Given the description of an element on the screen output the (x, y) to click on. 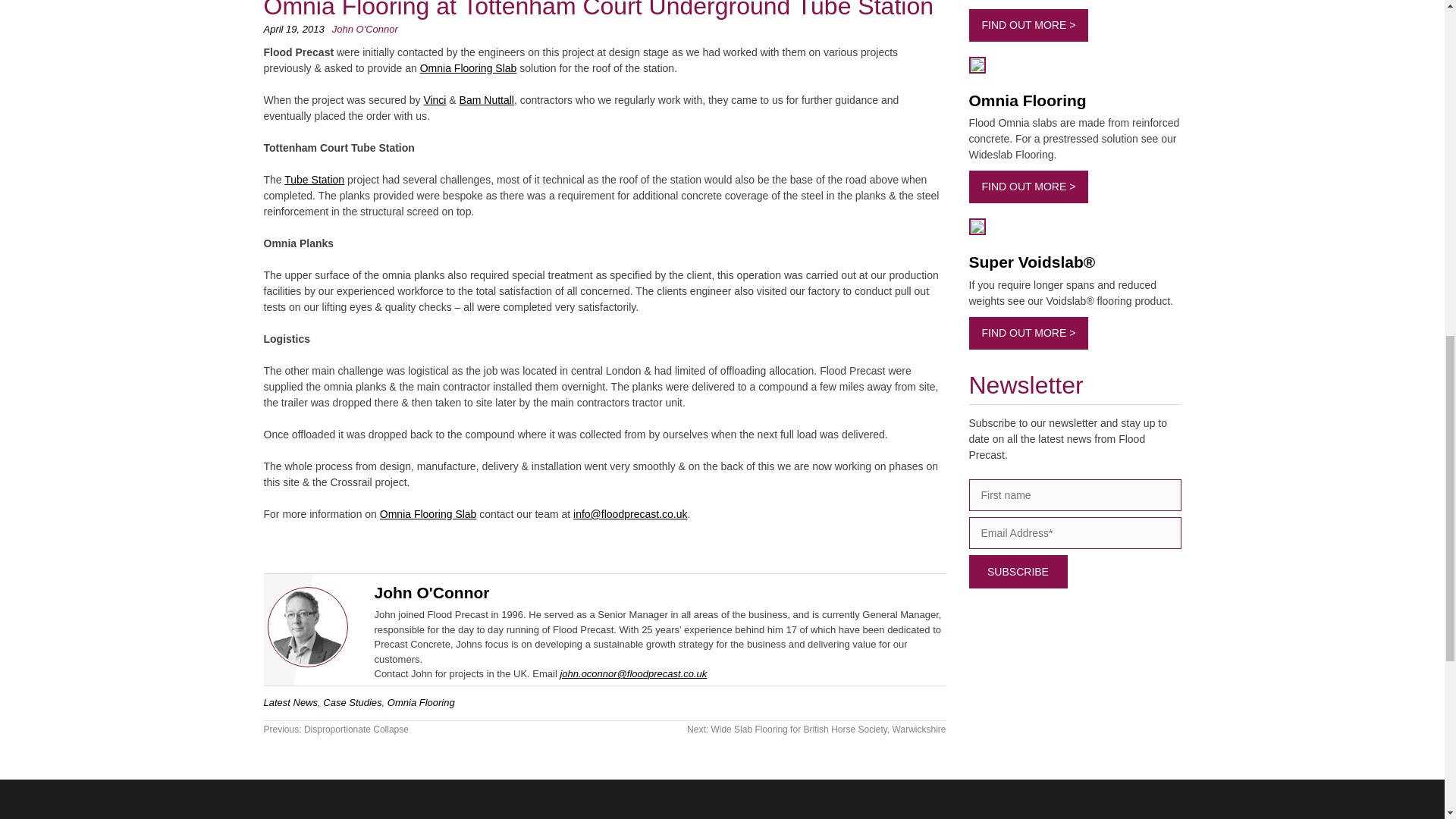
Tottenham Court Road, Underground Tube Station (313, 179)
BAM Nuttal (486, 100)
Vinci (434, 100)
Omnia Flooring (468, 68)
Omnia Flooring (428, 513)
Subscribe (1018, 571)
